Given the description of an element on the screen output the (x, y) to click on. 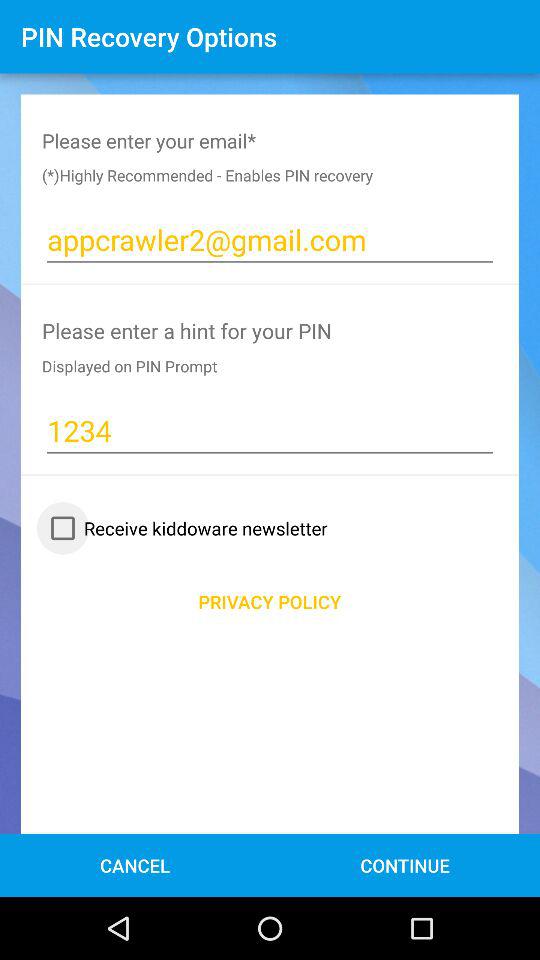
click on the button continue at the bottom of the page (404, 865)
select the text which says privacy policy which is above the cancel (269, 601)
click on the button privacy policy (269, 601)
click on the text appcrawler2gmailcom (269, 239)
select the second text field on the web page (269, 430)
